Given the description of an element on the screen output the (x, y) to click on. 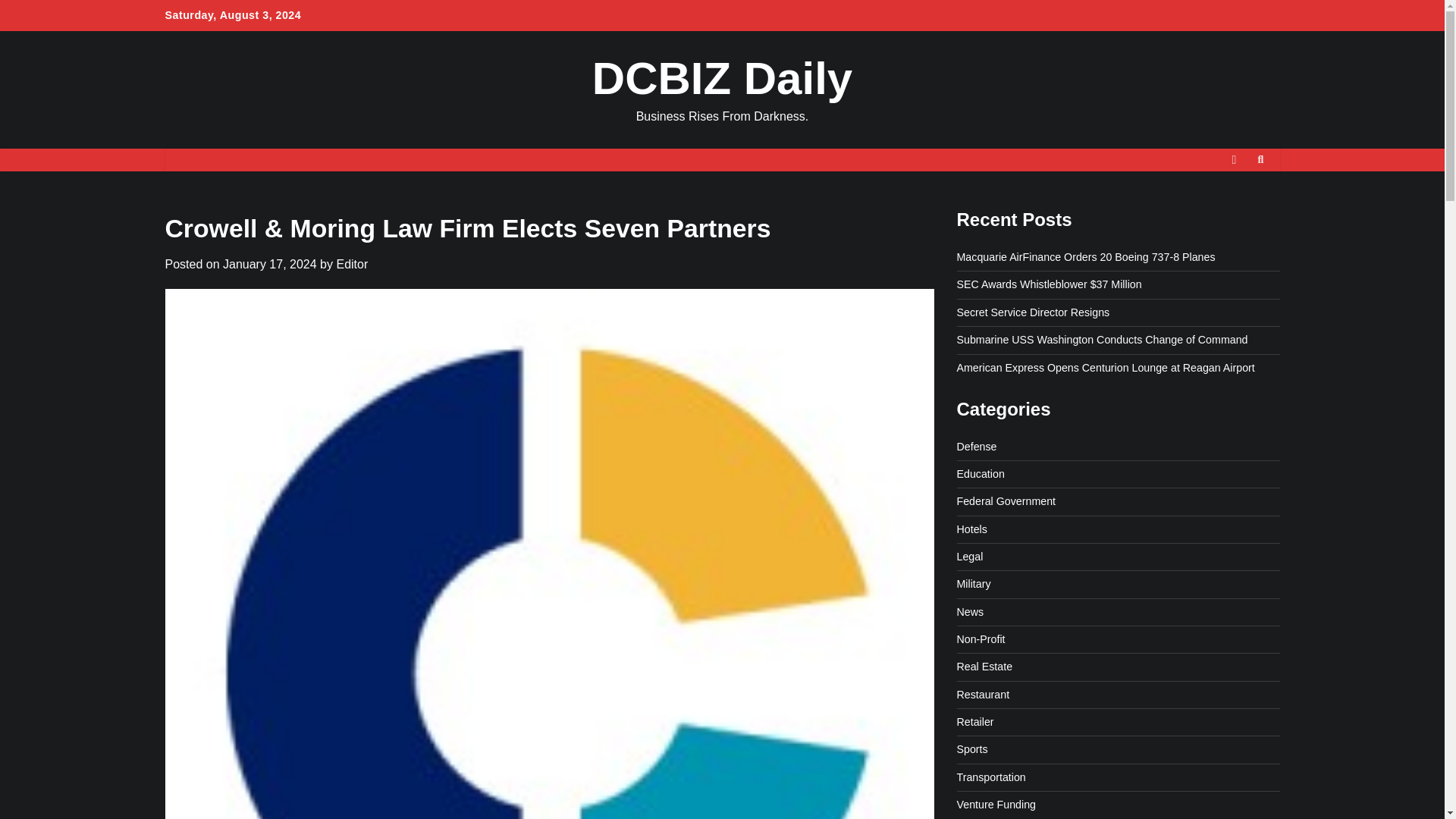
View Random Post (1233, 159)
Search (1260, 159)
January 17, 2024 (269, 264)
Editor (352, 264)
DCBIZ Daily (721, 78)
Search (1232, 195)
